Given the description of an element on the screen output the (x, y) to click on. 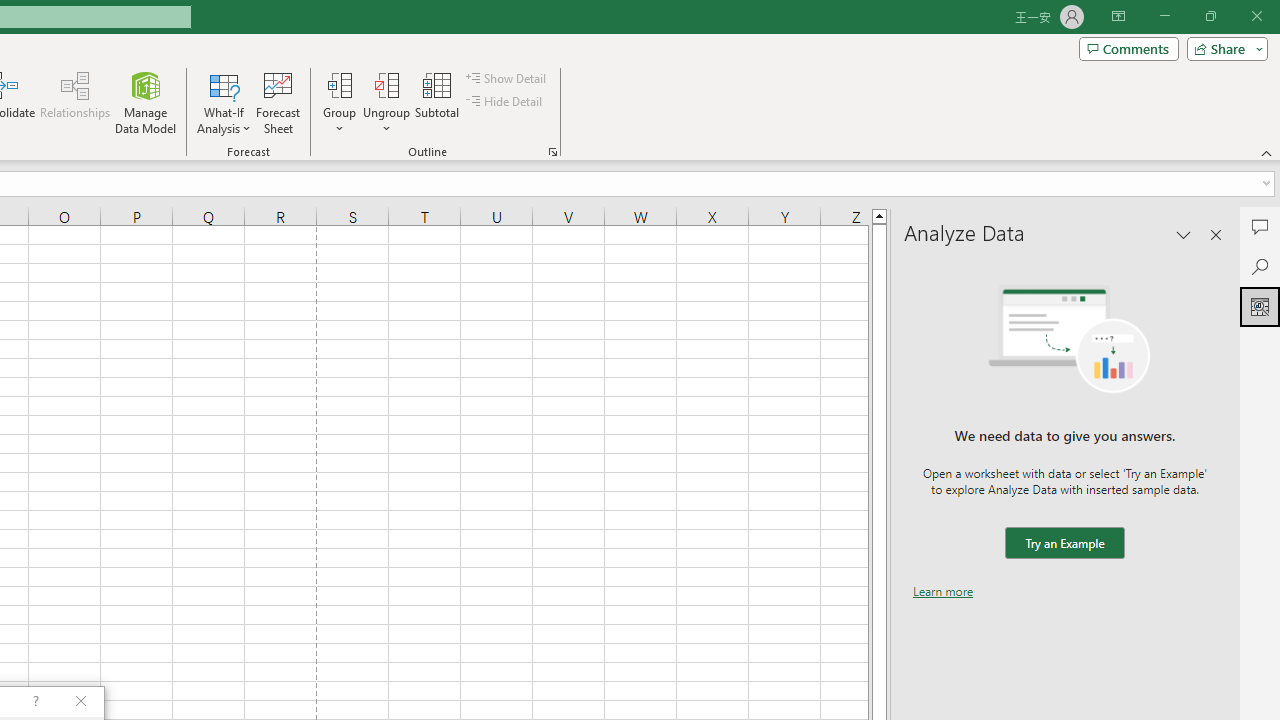
Relationships (75, 102)
More Options (386, 121)
Close (1256, 16)
Collapse the Ribbon (1267, 152)
Search (1260, 266)
Manage Data Model (145, 102)
Comments (1128, 48)
Minimize (1164, 16)
Group... (339, 84)
Task Pane Options (1183, 234)
Share (1223, 48)
Ribbon Display Options (1118, 16)
Ungroup... (386, 84)
What-If Analysis (223, 102)
Hide Detail (505, 101)
